Given the description of an element on the screen output the (x, y) to click on. 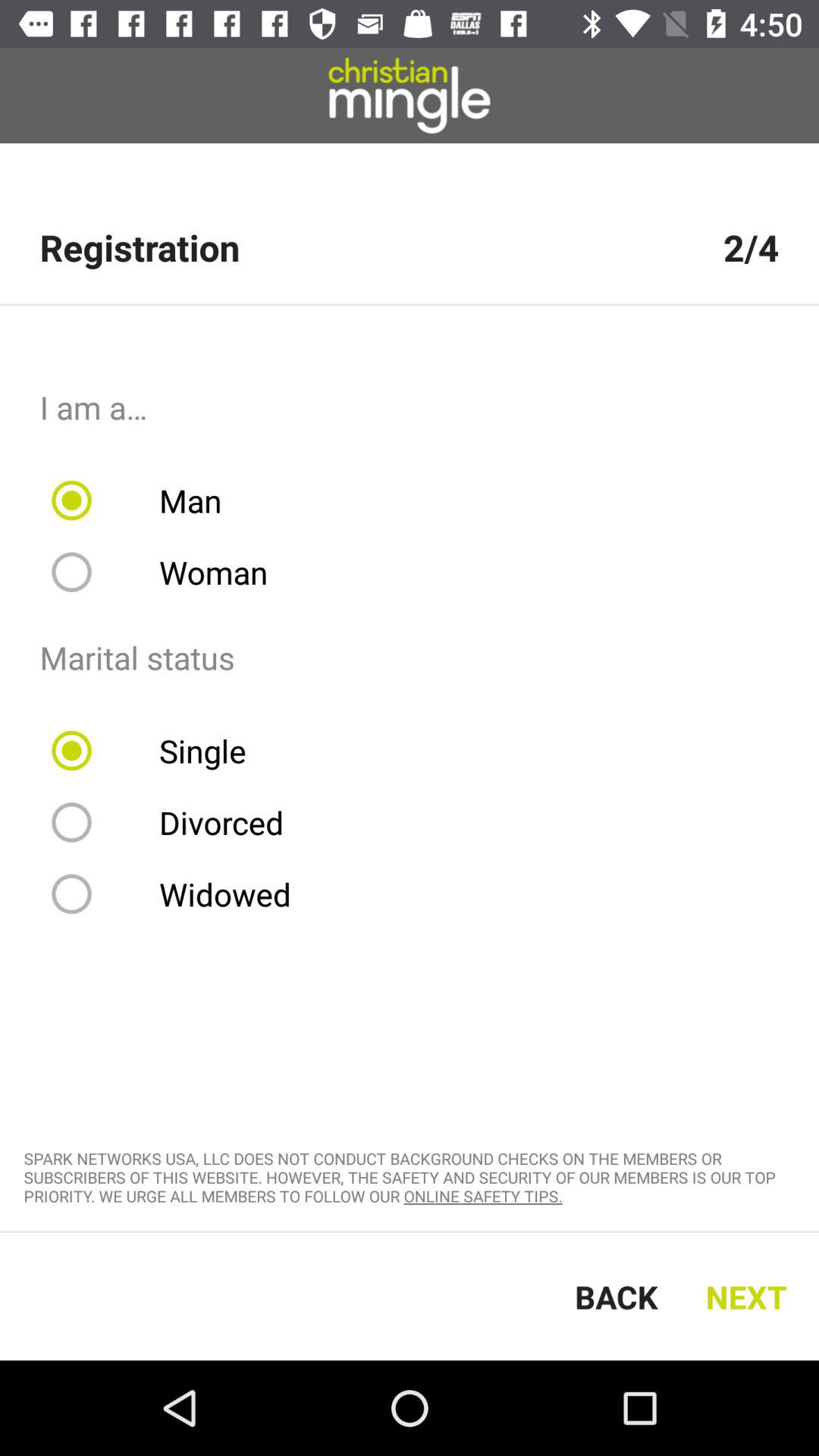
select icon to the right of the back icon (750, 1296)
